Given the description of an element on the screen output the (x, y) to click on. 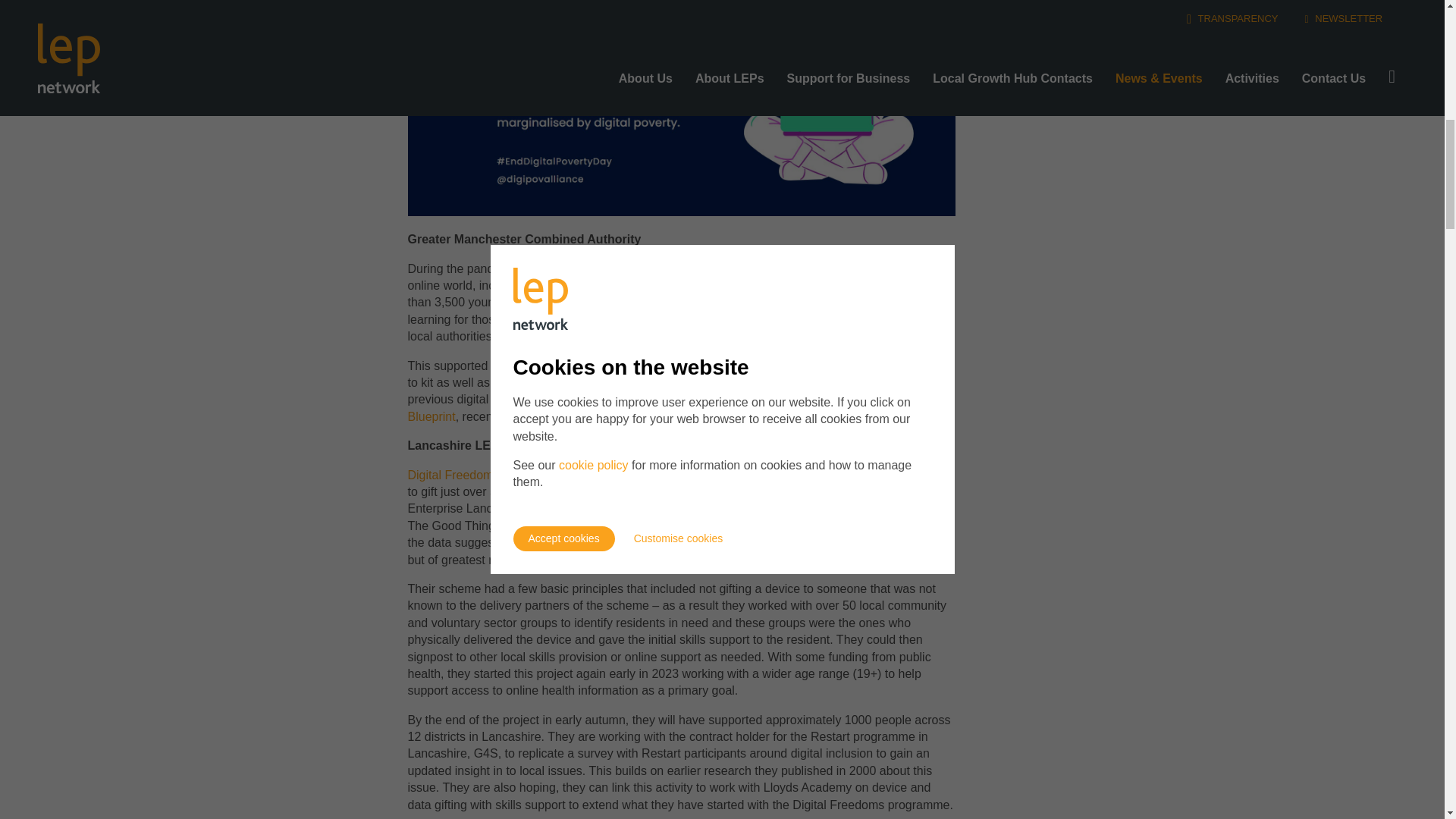
Digital Freedoms (453, 474)
Greater Manchester Tech Fund (737, 285)
